Given the description of an element on the screen output the (x, y) to click on. 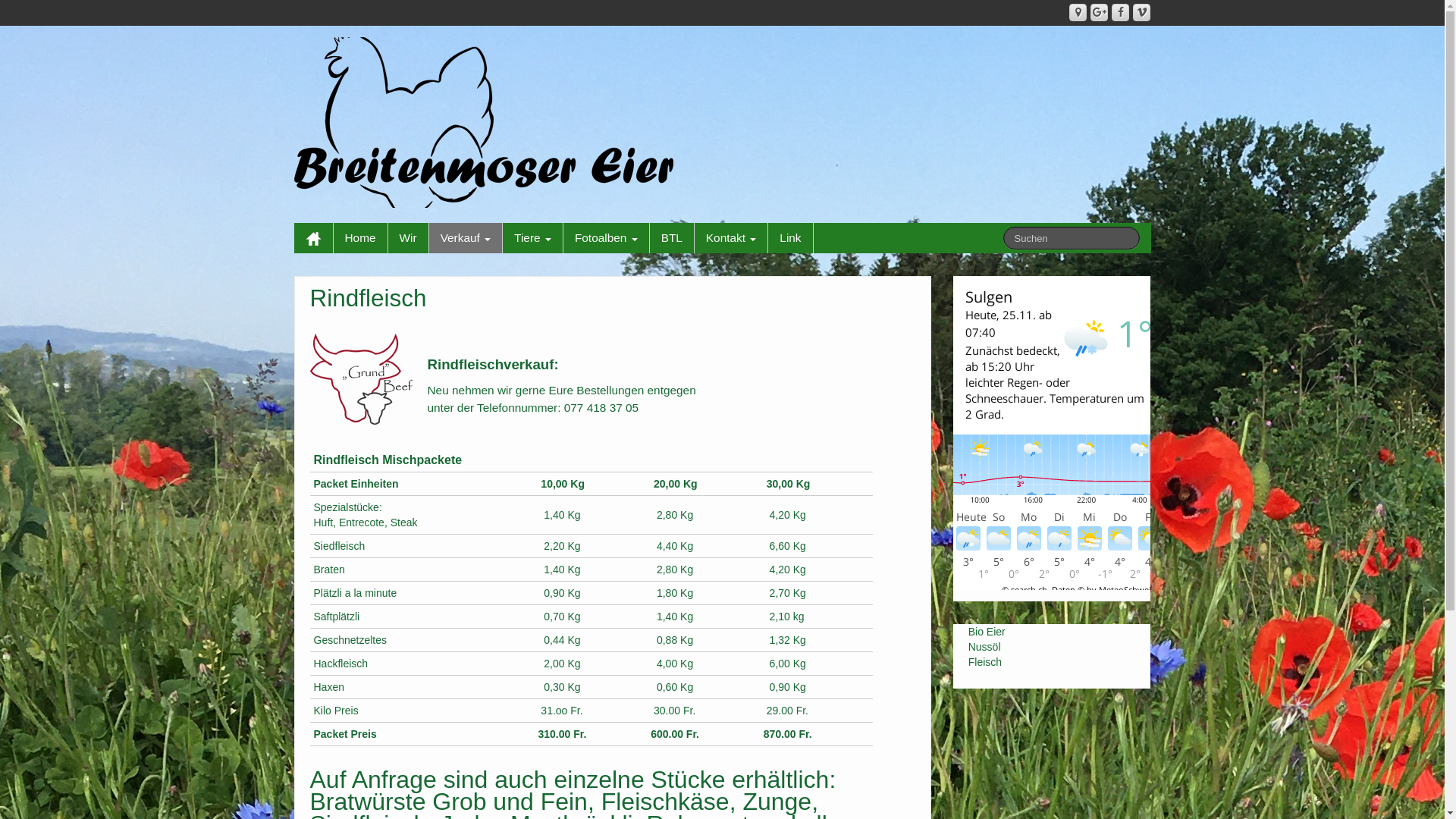
 Vimeo Element type: hover (1141, 12)
Fotoalben Element type: text (606, 237)
BTL Element type: text (671, 237)
Home Element type: text (360, 237)
 Google Maps Element type: hover (1077, 12)
Link Element type: text (790, 237)
Wir Element type: text (408, 237)
Verkauf Element type: text (465, 237)
 Facebook Element type: hover (1120, 12)
Tiere Element type: text (532, 237)
 Googleplus Element type: hover (1098, 12)
Kontakt Element type: text (730, 237)
